Given the description of an element on the screen output the (x, y) to click on. 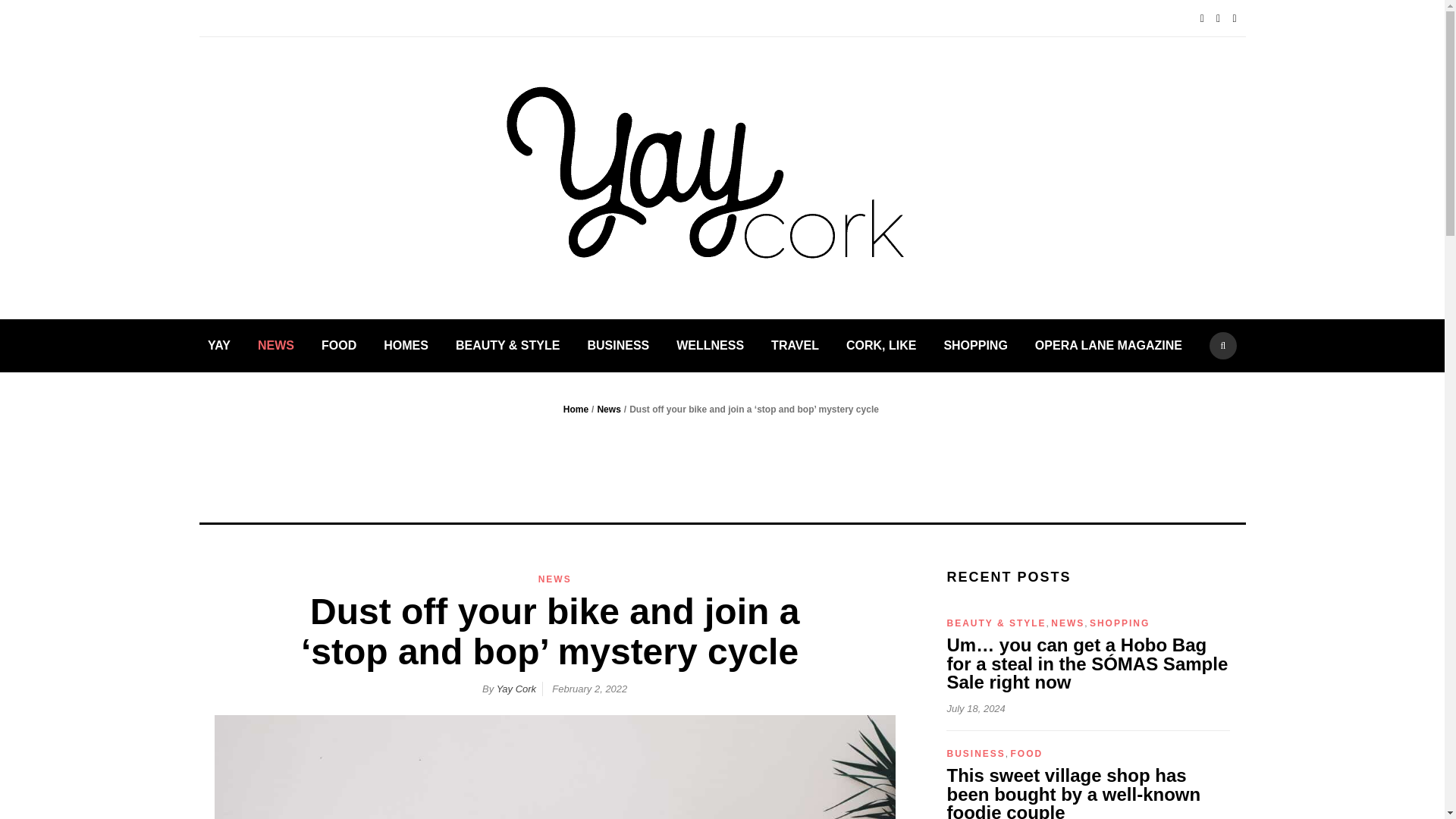
NEWS (275, 345)
TRAVEL (794, 345)
NEWS (555, 579)
WELLNESS (710, 345)
Twitter (1221, 18)
YAY (219, 345)
SHOPPING (975, 345)
HOMES (406, 345)
News (608, 409)
FOOD (338, 345)
YAY CORK (998, 200)
BUSINESS (617, 345)
CORK, LIKE (880, 345)
OPERA LANE MAGAZINE (1108, 345)
Facebook (1205, 18)
